Given the description of an element on the screen output the (x, y) to click on. 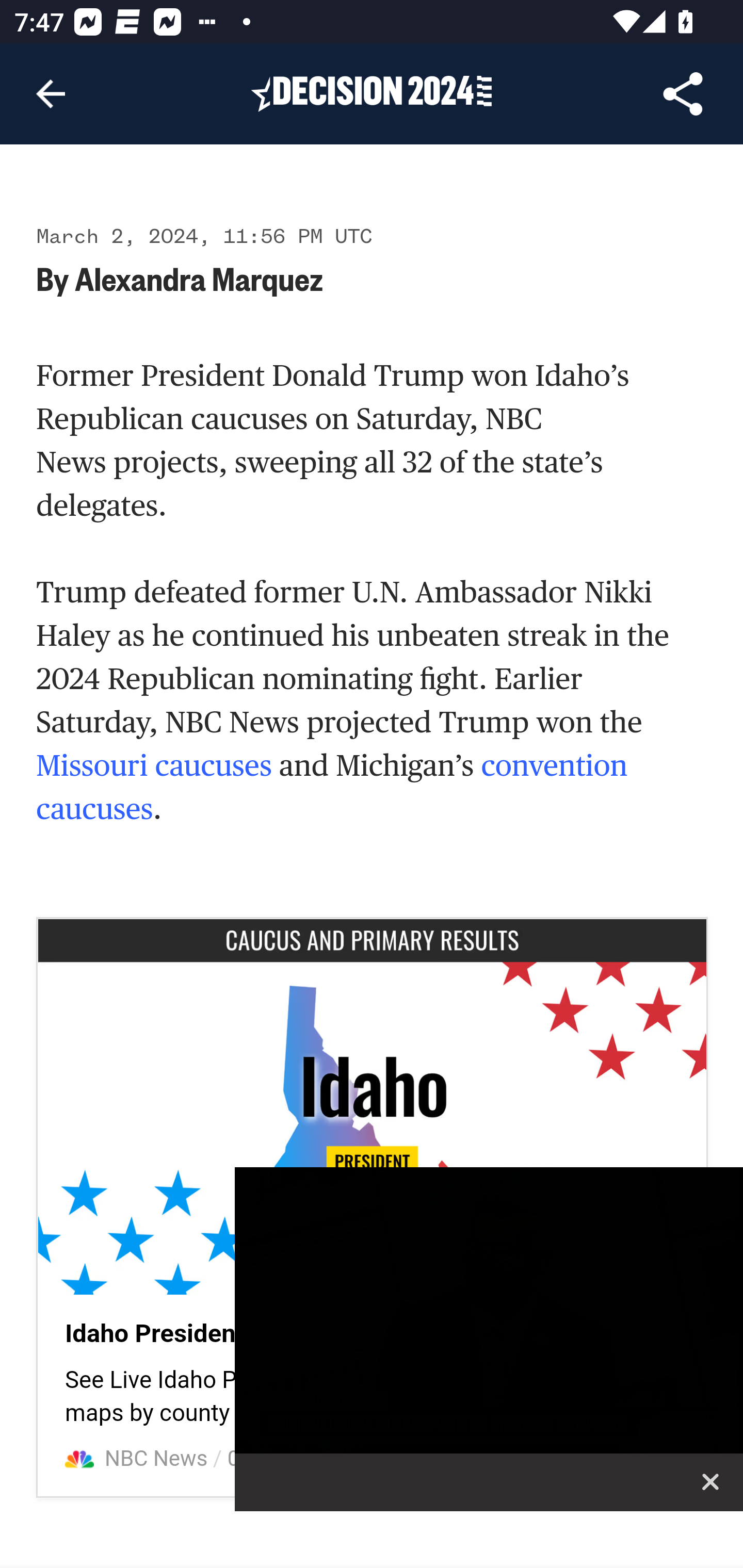
Navigate up (50, 93)
Share Article, button (683, 94)
Header, Decision 2024 (371, 93)
Missouri caucuses (154, 767)
convention caucuses (332, 788)
NBC News (156, 1458)
